Given the description of an element on the screen output the (x, y) to click on. 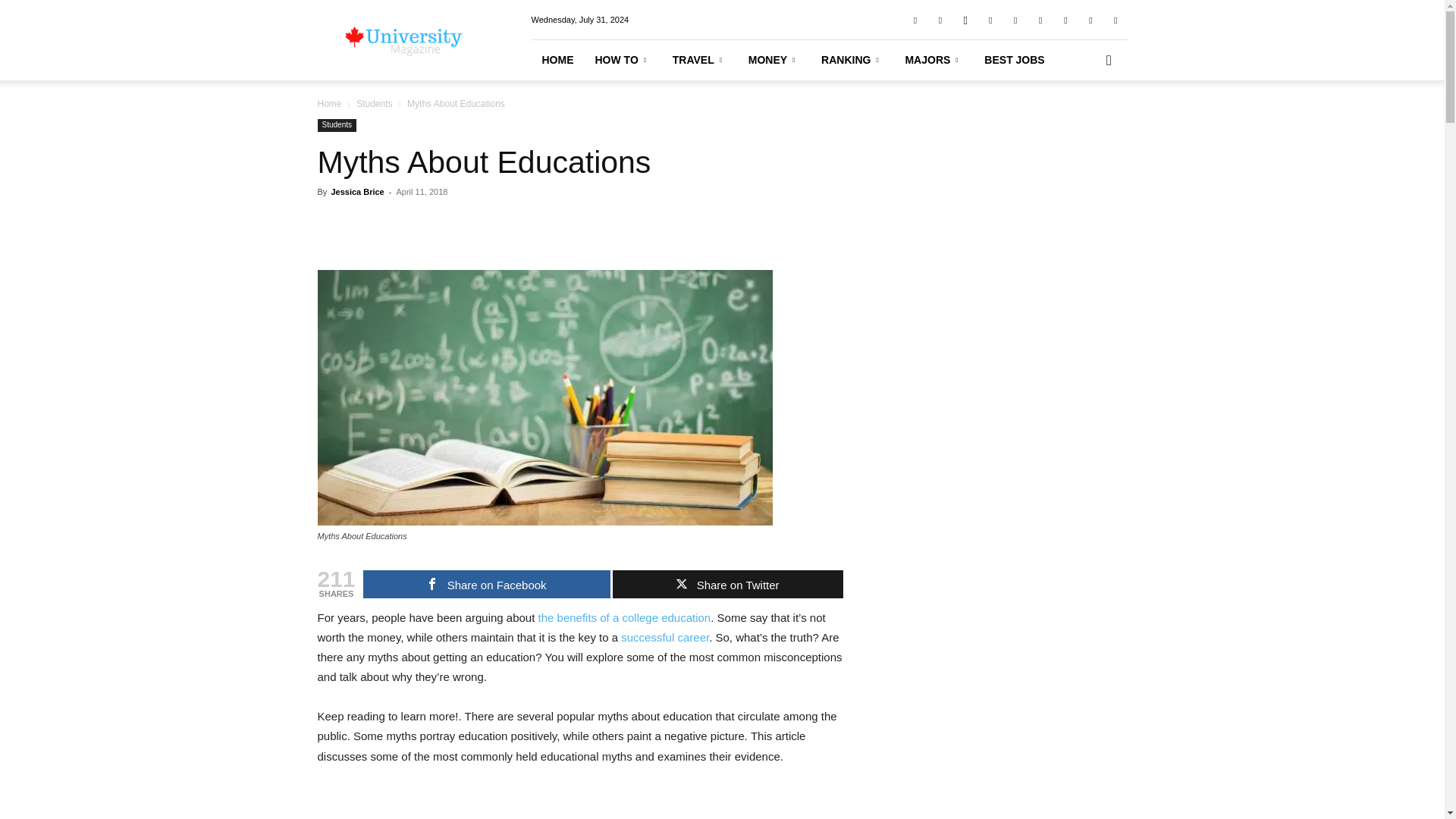
Instagram (964, 19)
Facebook (915, 19)
Linkedin (989, 19)
Flipboard (940, 19)
